Given the description of an element on the screen output the (x, y) to click on. 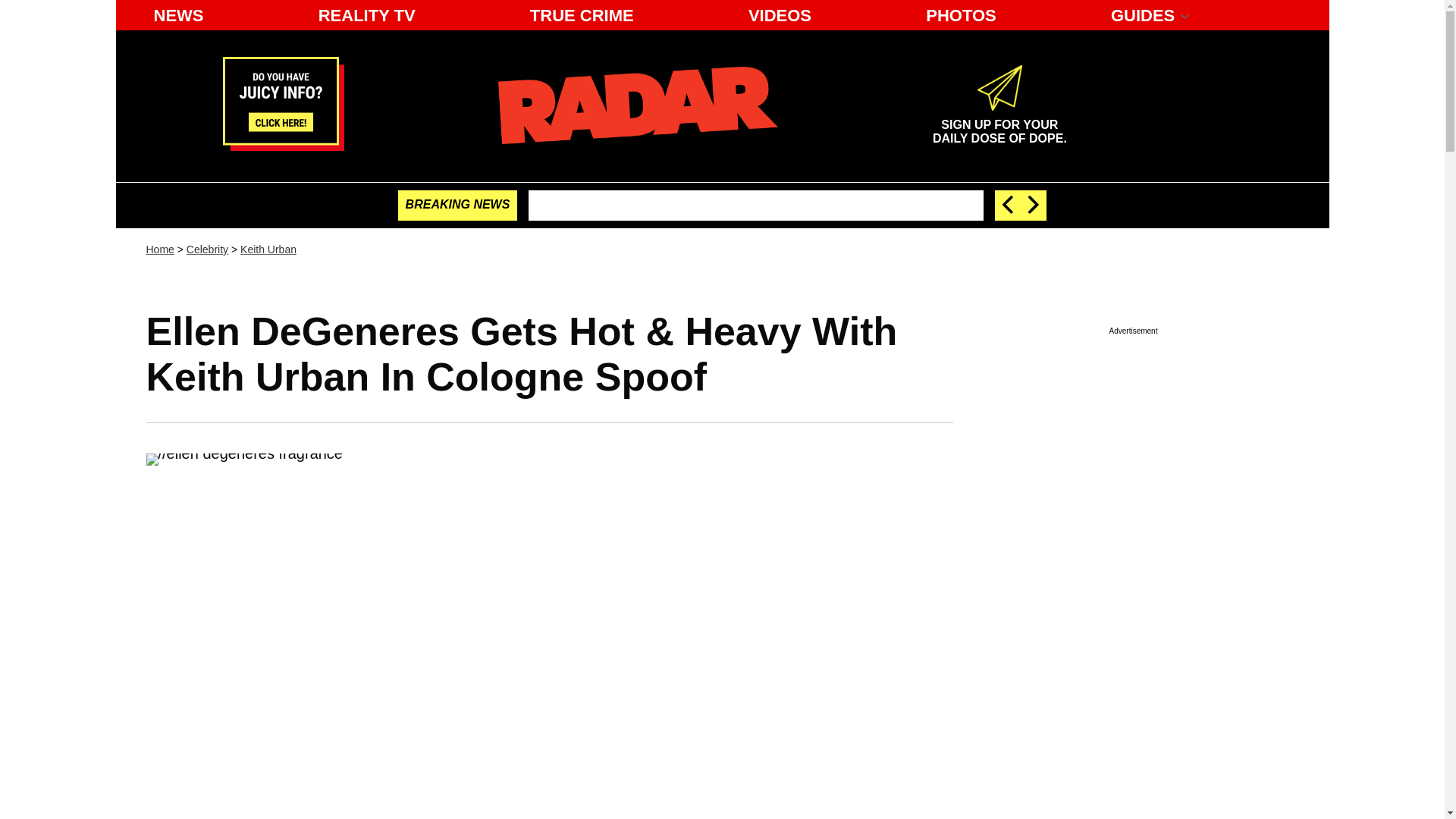
VIDEOS (779, 15)
Sign up for your daily dose of dope. (999, 124)
Radar Online (637, 105)
Keith Urban (268, 249)
Email us your tip (282, 146)
NEWS (178, 15)
TRUE CRIME (582, 15)
REALITY TV (367, 15)
PHOTOS (961, 15)
Celebrity (999, 124)
Home (207, 249)
